Given the description of an element on the screen output the (x, y) to click on. 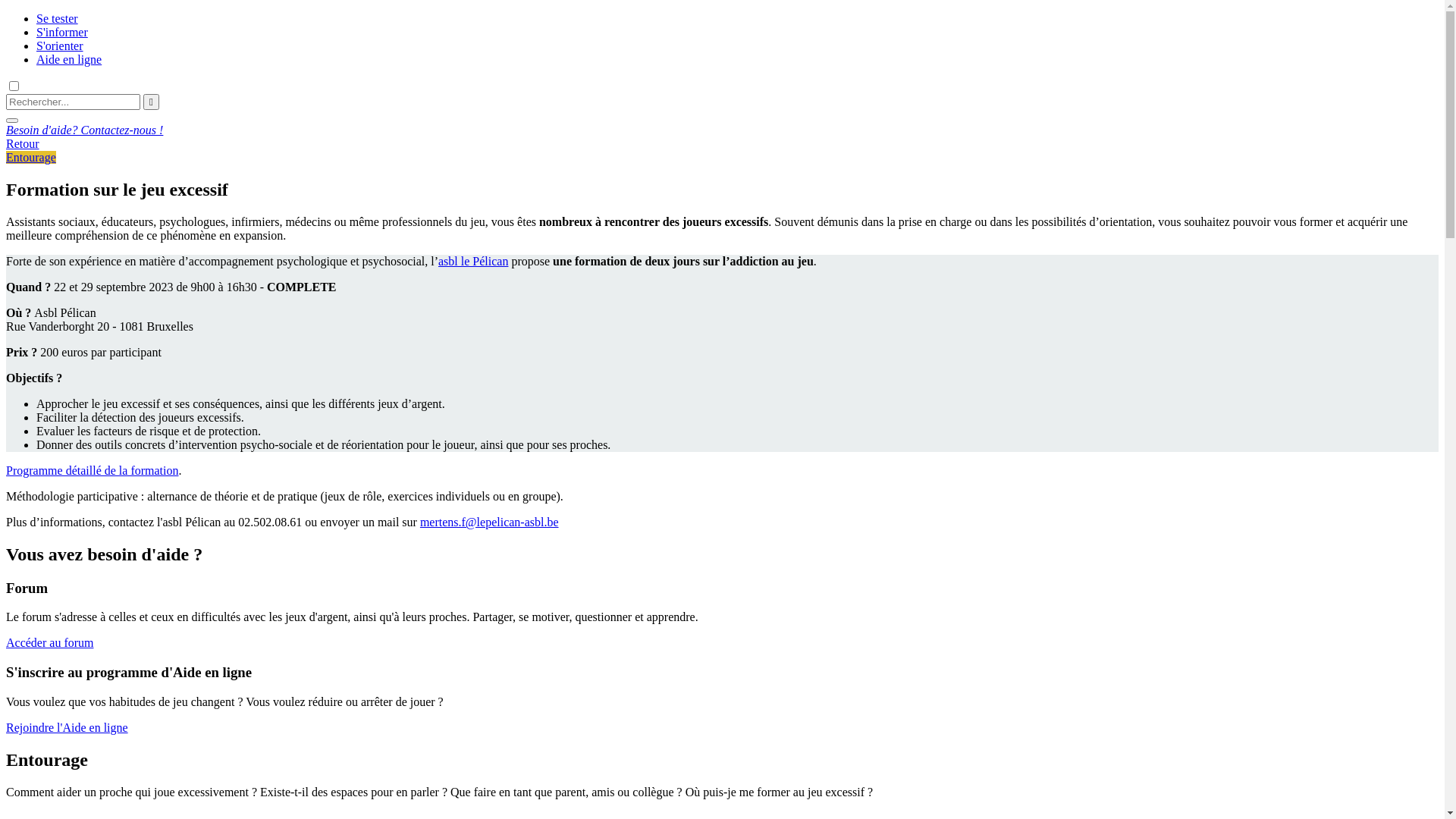
Retour Element type: text (22, 143)
Besoin d'aide? Contactez-nous ! Element type: text (722, 130)
Entourage Element type: text (31, 156)
mertens.f@lepelican-asbl.be Element type: text (489, 521)
Se tester Element type: text (57, 18)
Aide en ligne Element type: text (68, 59)
Rejoindre l'Aide en ligne Element type: text (67, 727)
S'informer Element type: text (61, 31)
S'orienter Element type: text (59, 45)
